Given the description of an element on the screen output the (x, y) to click on. 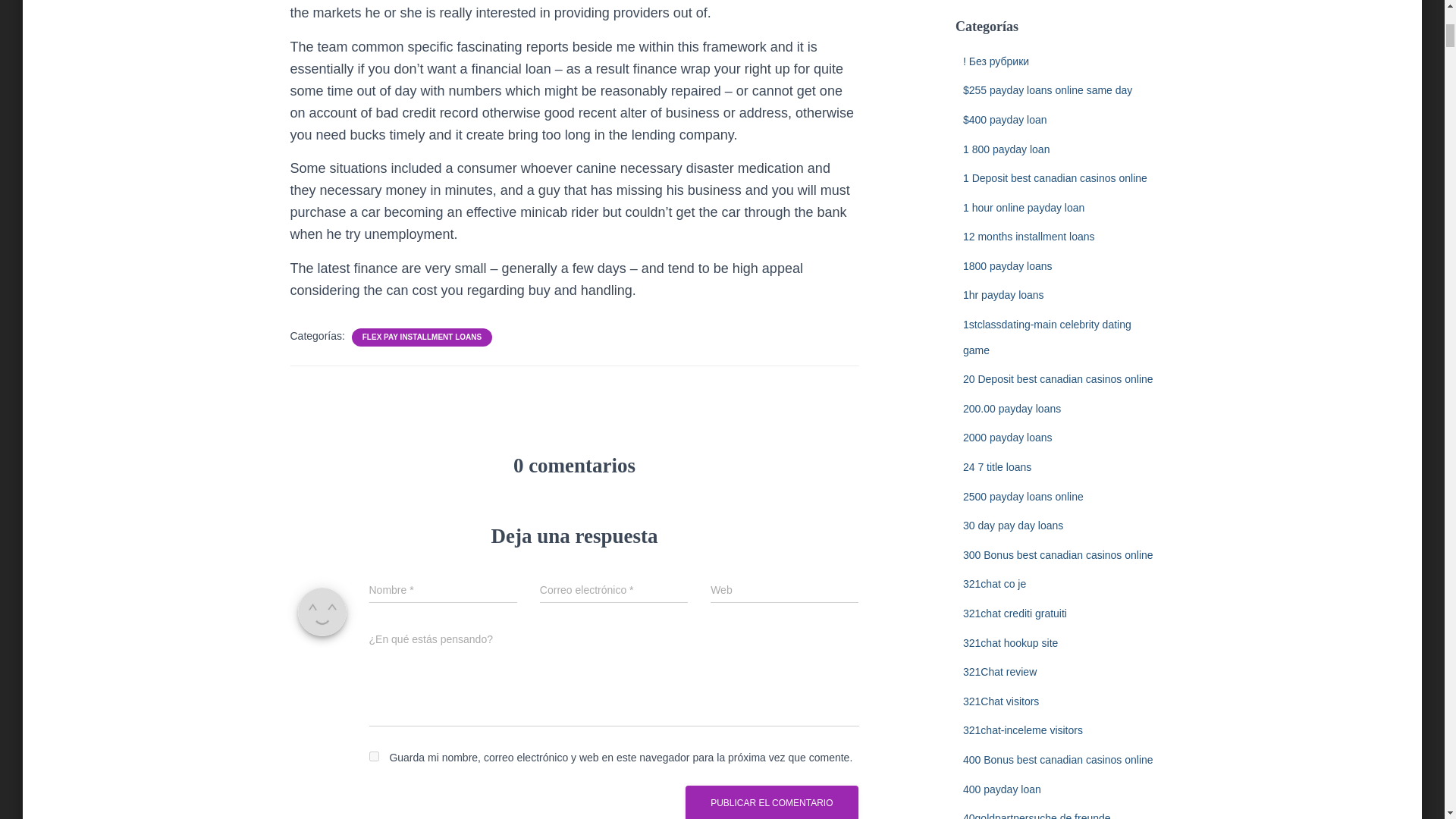
Publicar el comentario (771, 802)
FLEX PAY INSTALLMENT LOANS (422, 337)
Publicar el comentario (771, 802)
yes (373, 756)
